Given the description of an element on the screen output the (x, y) to click on. 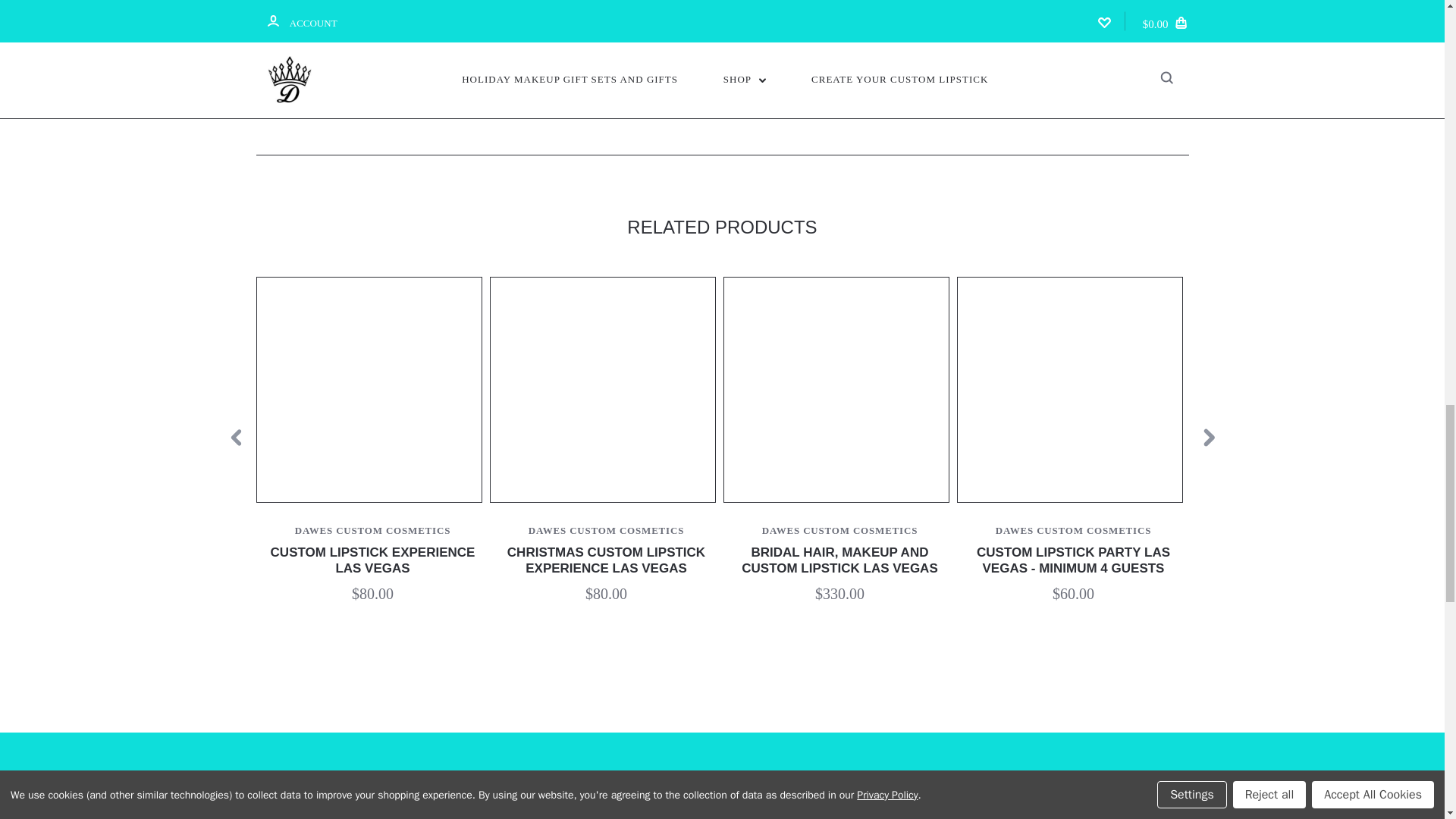
Custom Blend Lipstick Party Vegas (1068, 389)
Christmas Custom Lipstick Experience Las Vegas (601, 389)
